Given the description of an element on the screen output the (x, y) to click on. 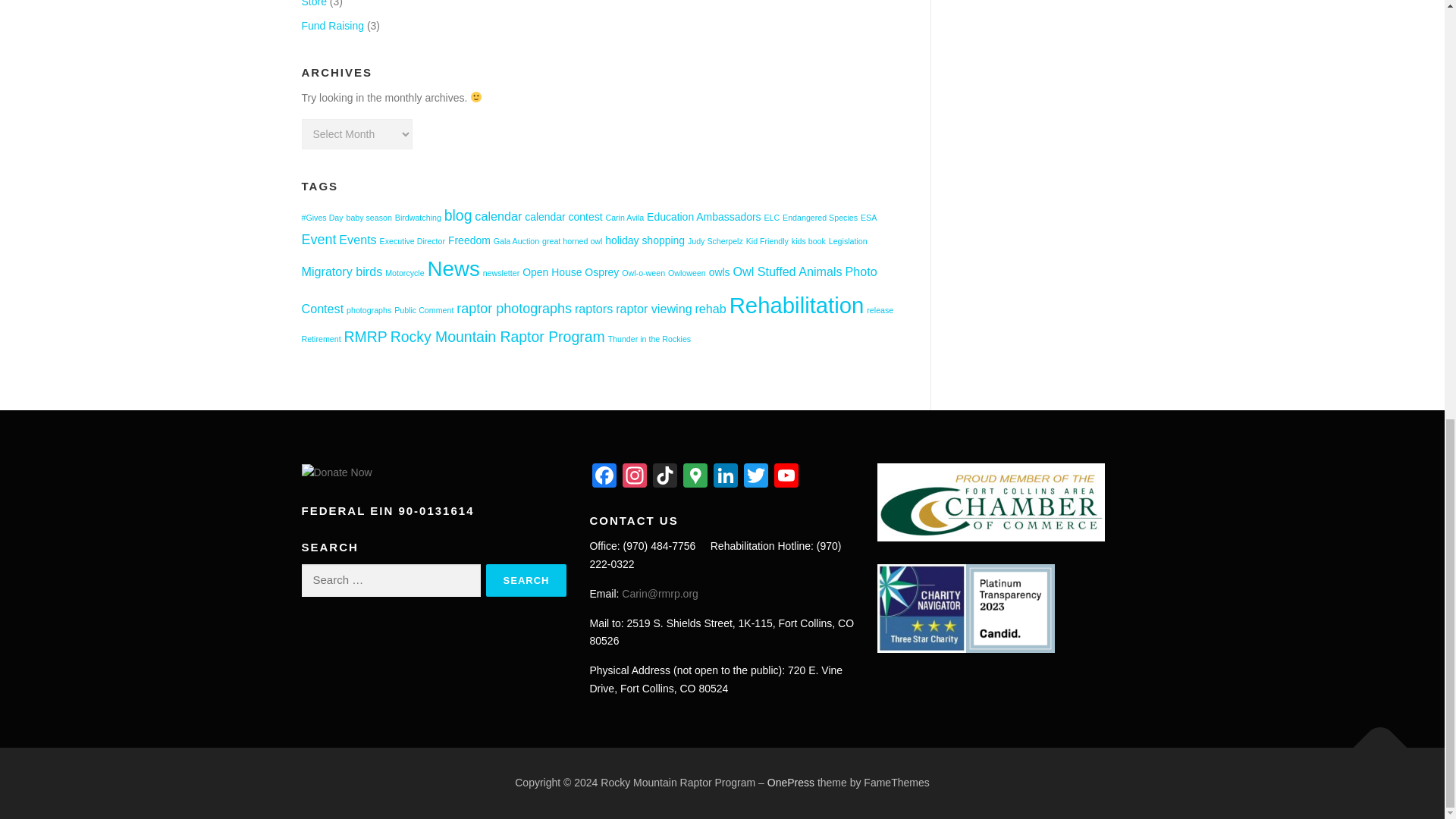
Google Maps (694, 477)
Back To Top (1372, 739)
Search (526, 580)
Search (526, 580)
YouTube (786, 477)
Instagram (634, 477)
LinkedIn (725, 477)
Facebook (604, 477)
Twitter (756, 477)
TikTok (664, 477)
